Given the description of an element on the screen output the (x, y) to click on. 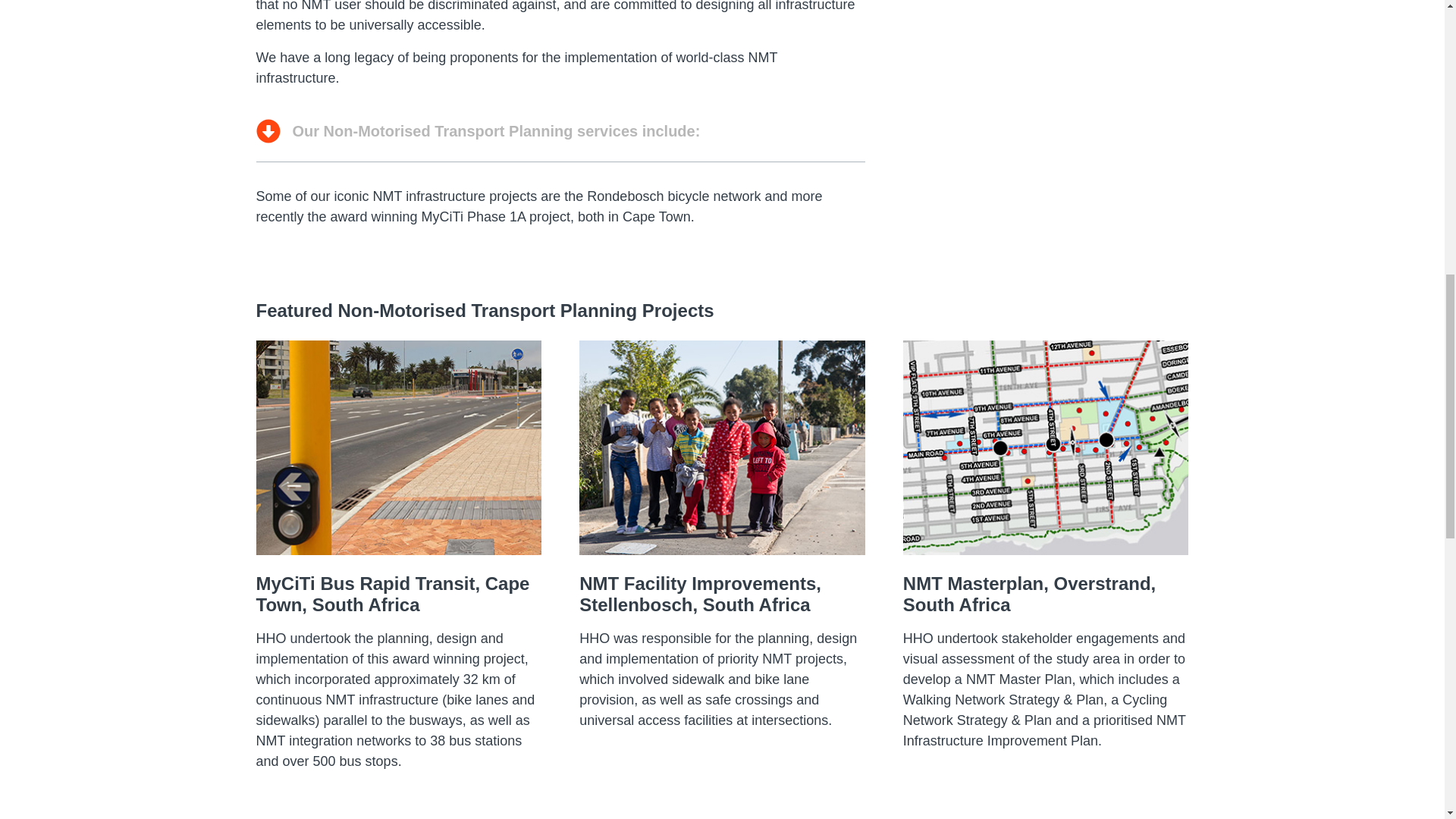
Our Non-Motorised Transport Planning services include: (560, 130)
